Given the description of an element on the screen output the (x, y) to click on. 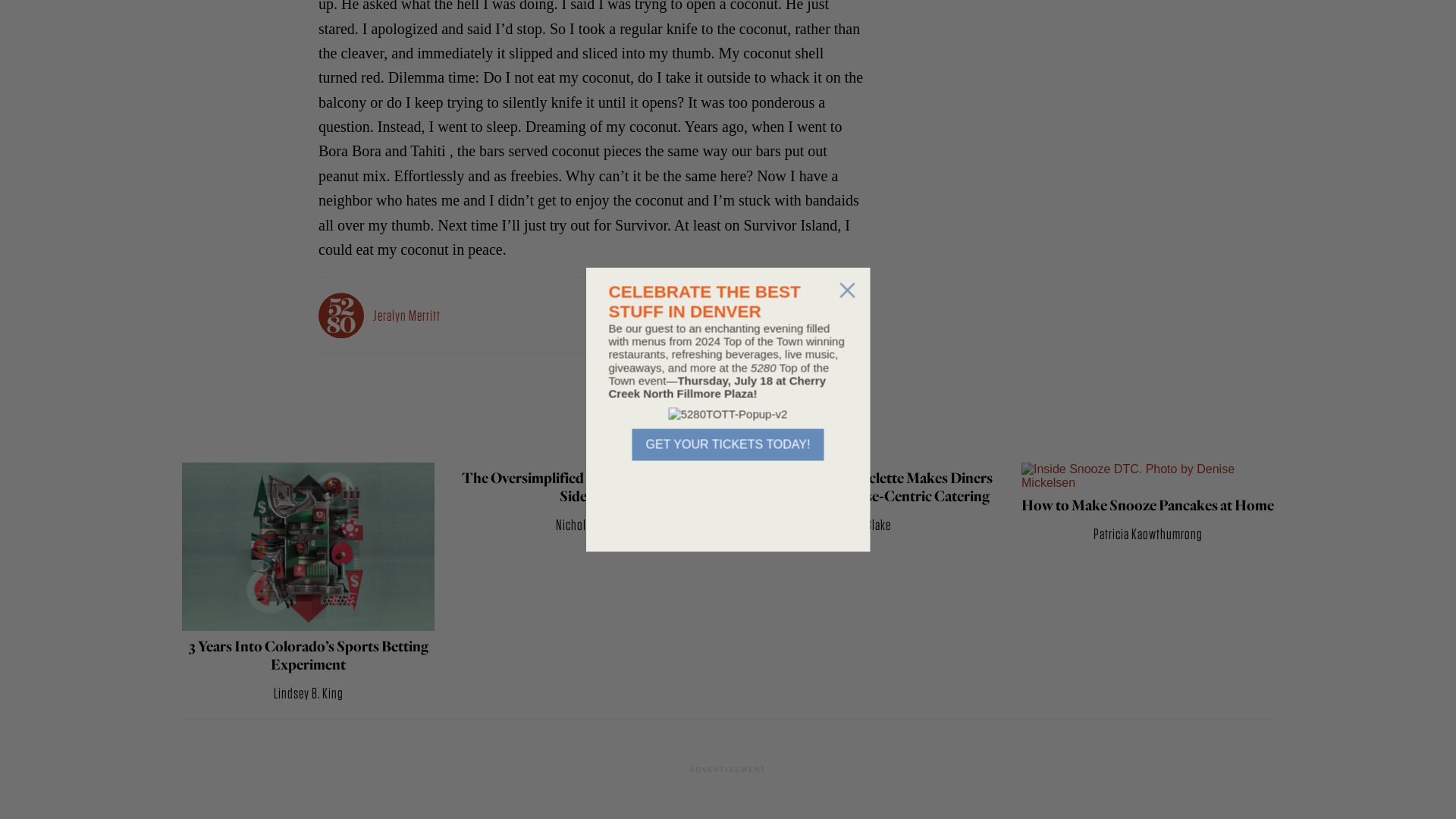
3rd party ad content (1023, 30)
